Given the description of an element on the screen output the (x, y) to click on. 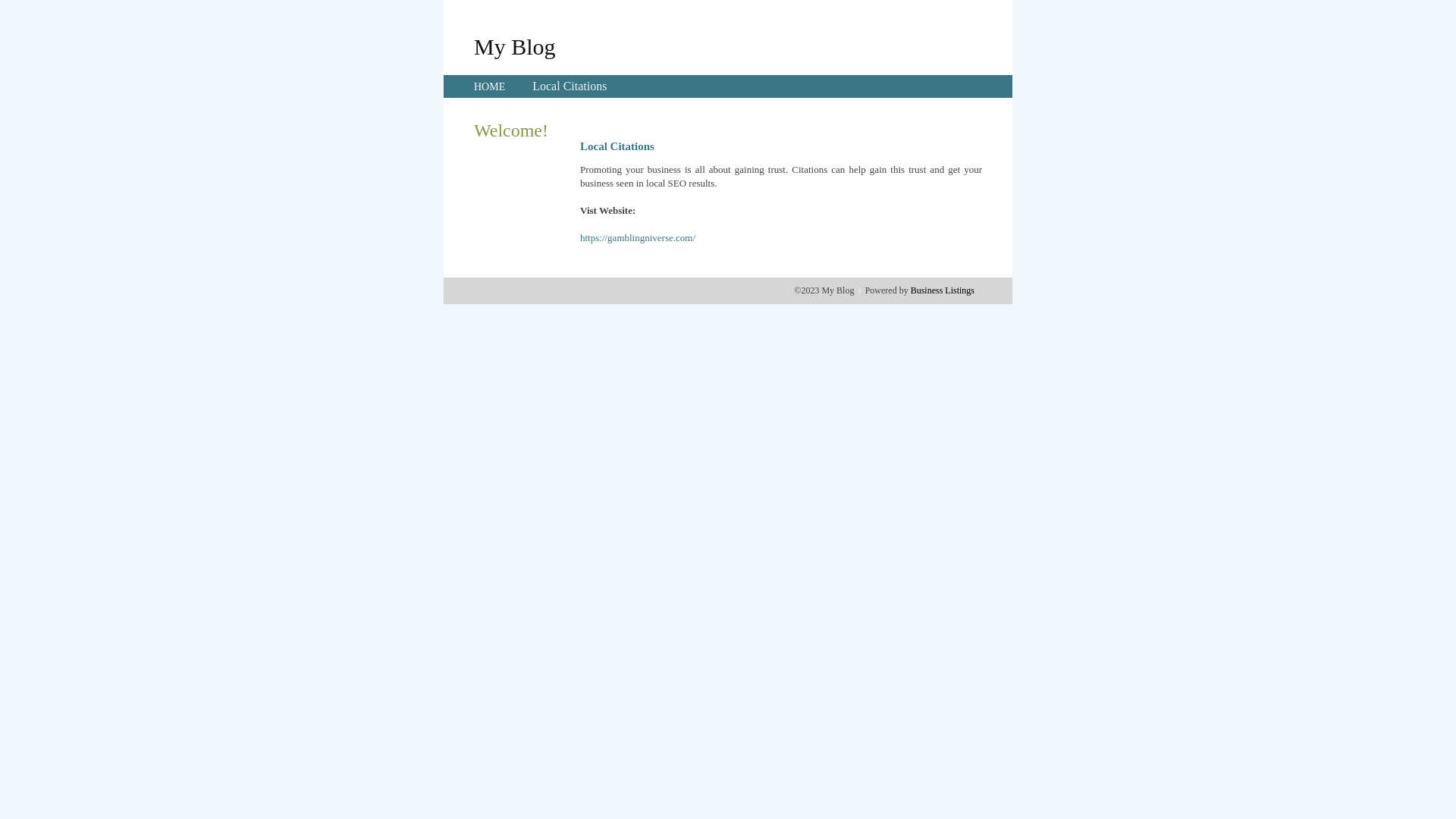
https://gamblingniverse.com/ Element type: text (637, 237)
My Blog Element type: text (514, 46)
Local Citations Element type: text (569, 85)
Business Listings Element type: text (942, 290)
HOME Element type: text (489, 86)
